Given the description of an element on the screen output the (x, y) to click on. 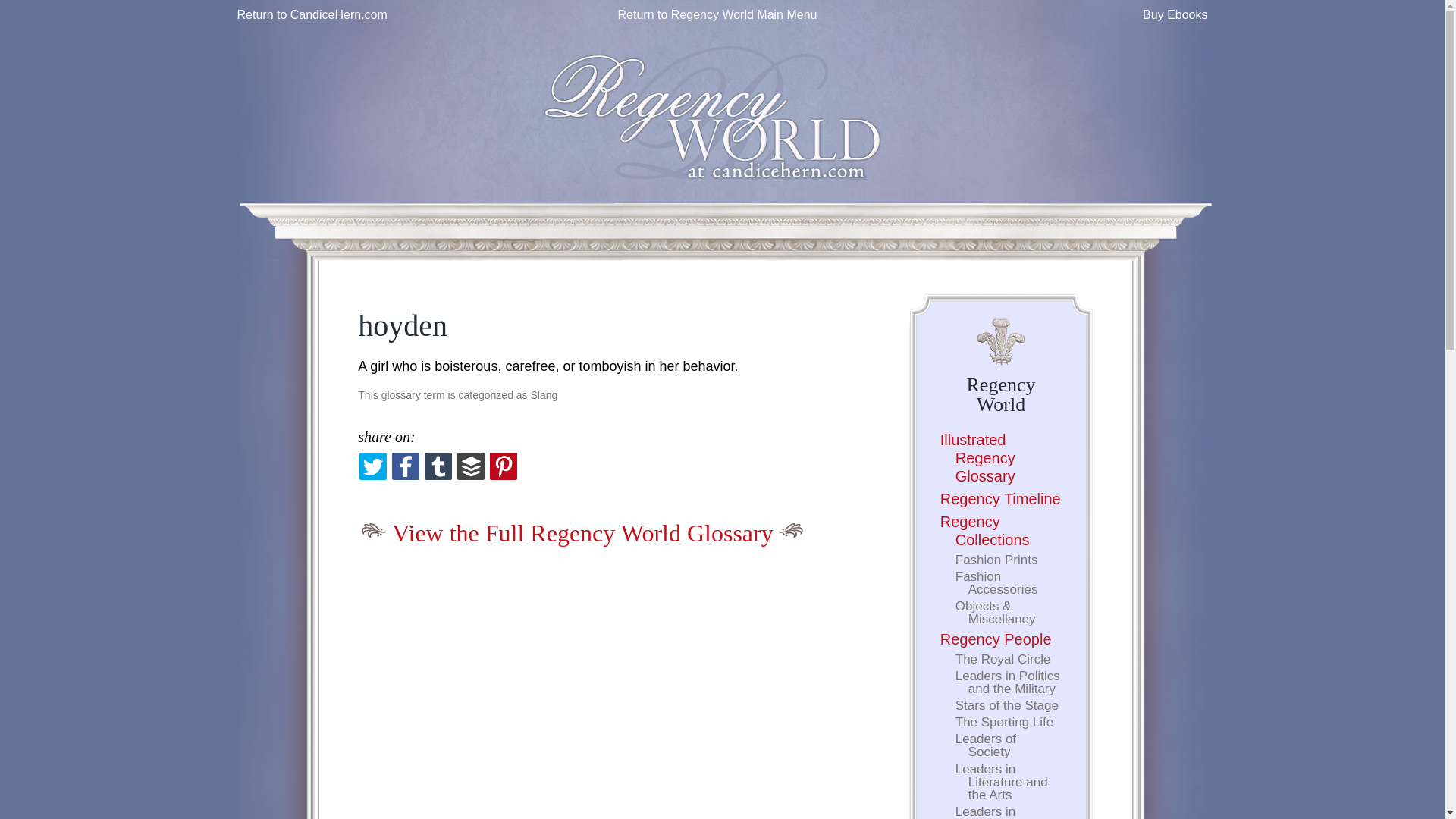
Stars of the Stage (1006, 705)
Buy Ebooks (1174, 14)
Regency Collections (984, 530)
Leaders in Politics and the Military (1007, 682)
Slang (544, 395)
Illustrated Regency Glossary (977, 457)
Regency People (995, 638)
Fashion Accessories (996, 583)
Leaders in Literature and the Arts (1001, 781)
Leaders in Science and Industry (997, 811)
Fashion Prints (996, 559)
Regency Timeline (1000, 498)
Return to CandiceHern.com (311, 14)
Leaders of Society (985, 745)
